Given the description of an element on the screen output the (x, y) to click on. 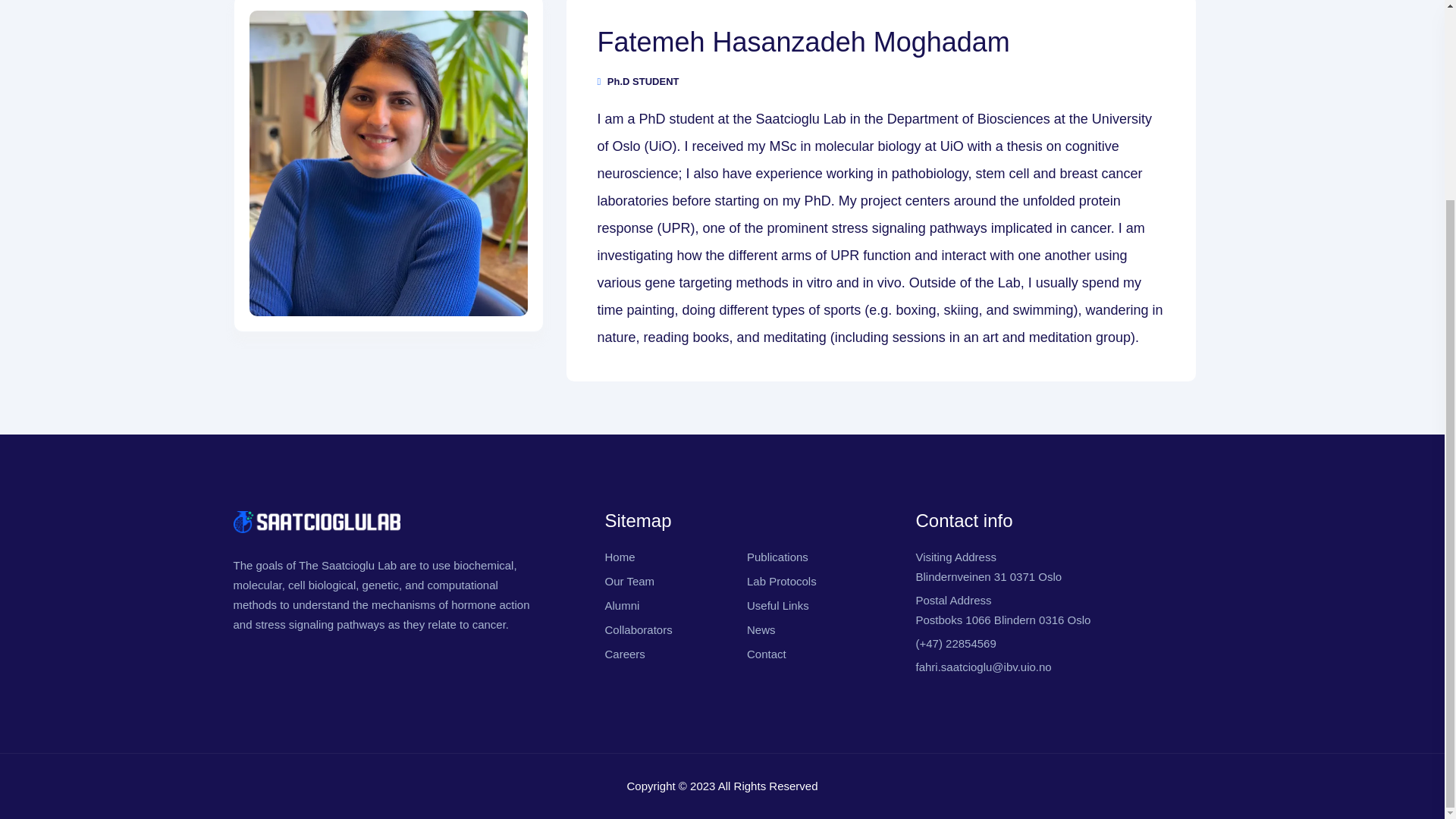
Lab Protocols (781, 581)
Our Team (628, 581)
News (761, 629)
Collaborators (637, 629)
Careers (624, 653)
Useful Links (777, 604)
Home (619, 556)
Publications (777, 556)
Contact (1002, 609)
